Given the description of an element on the screen output the (x, y) to click on. 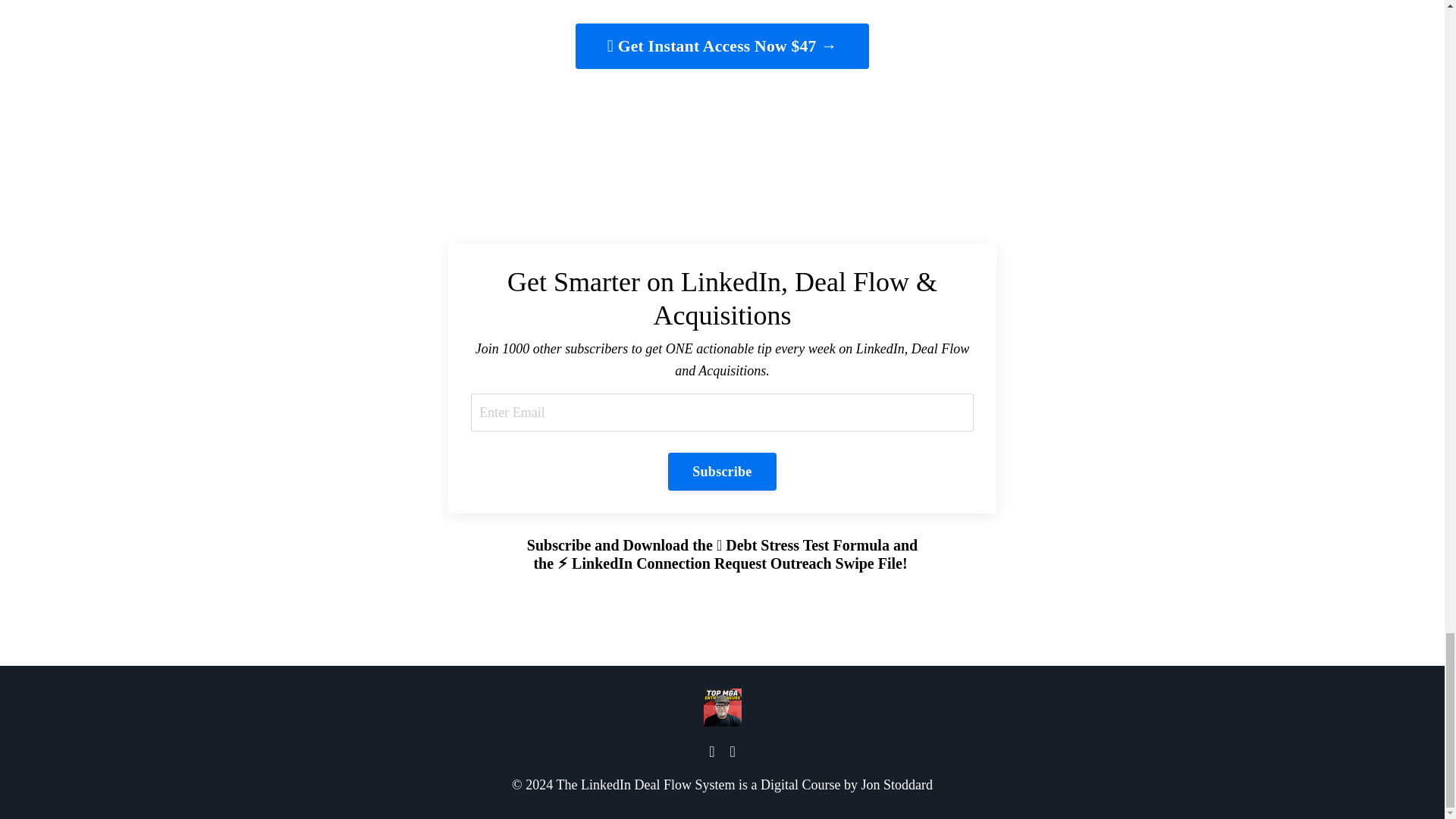
Subscribe (722, 471)
